Given the description of an element on the screen output the (x, y) to click on. 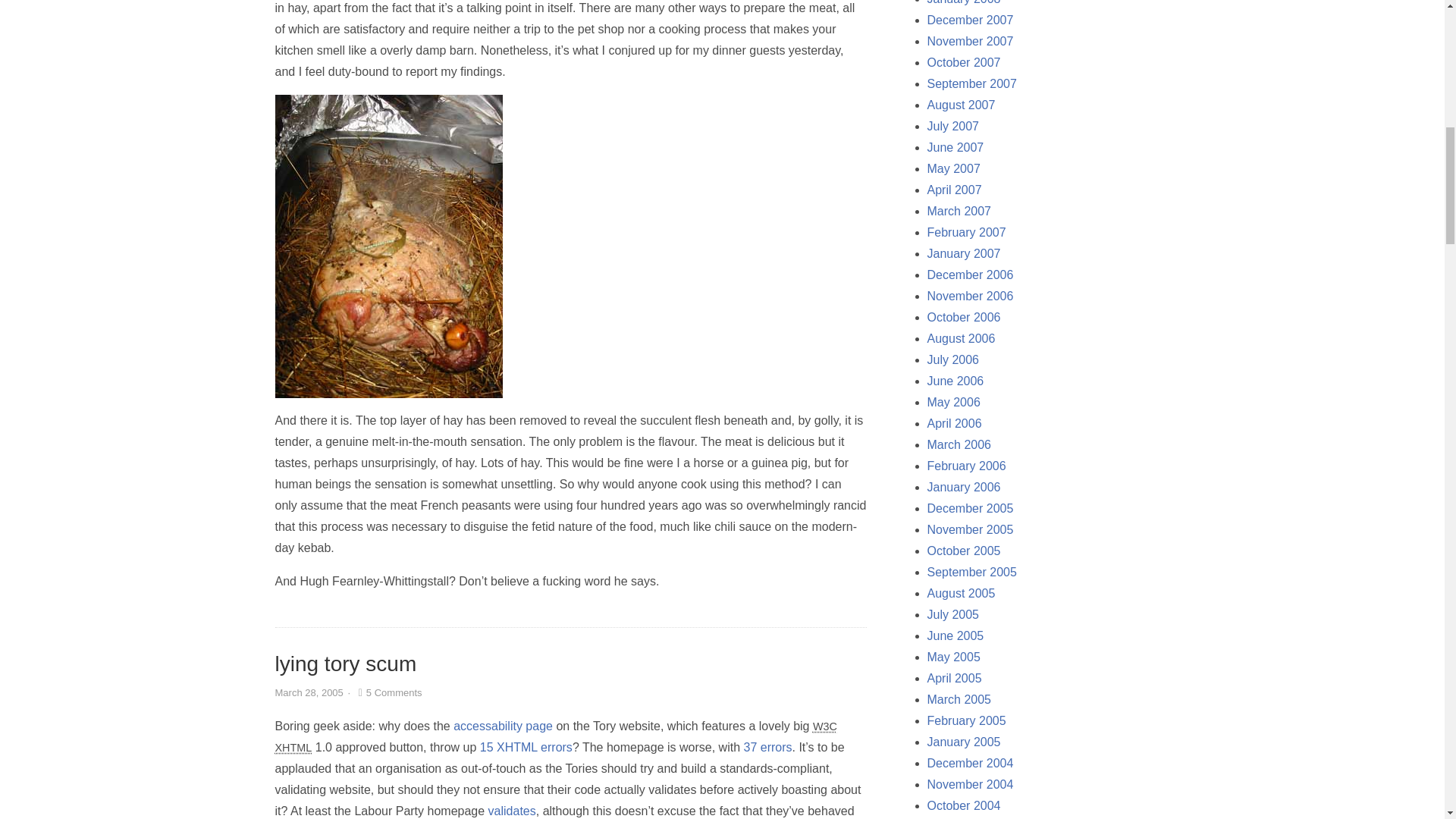
Permanent Link to lying tory scum (345, 663)
5 Comments (388, 692)
lying tory scum (345, 663)
validates (511, 810)
15 XHTML errors (526, 747)
lamb (388, 246)
accessability page (502, 725)
37 errors (767, 747)
eXtensible HyperText Markup Language (293, 748)
World Wide Web Consortium (824, 726)
